Given the description of an element on the screen output the (x, y) to click on. 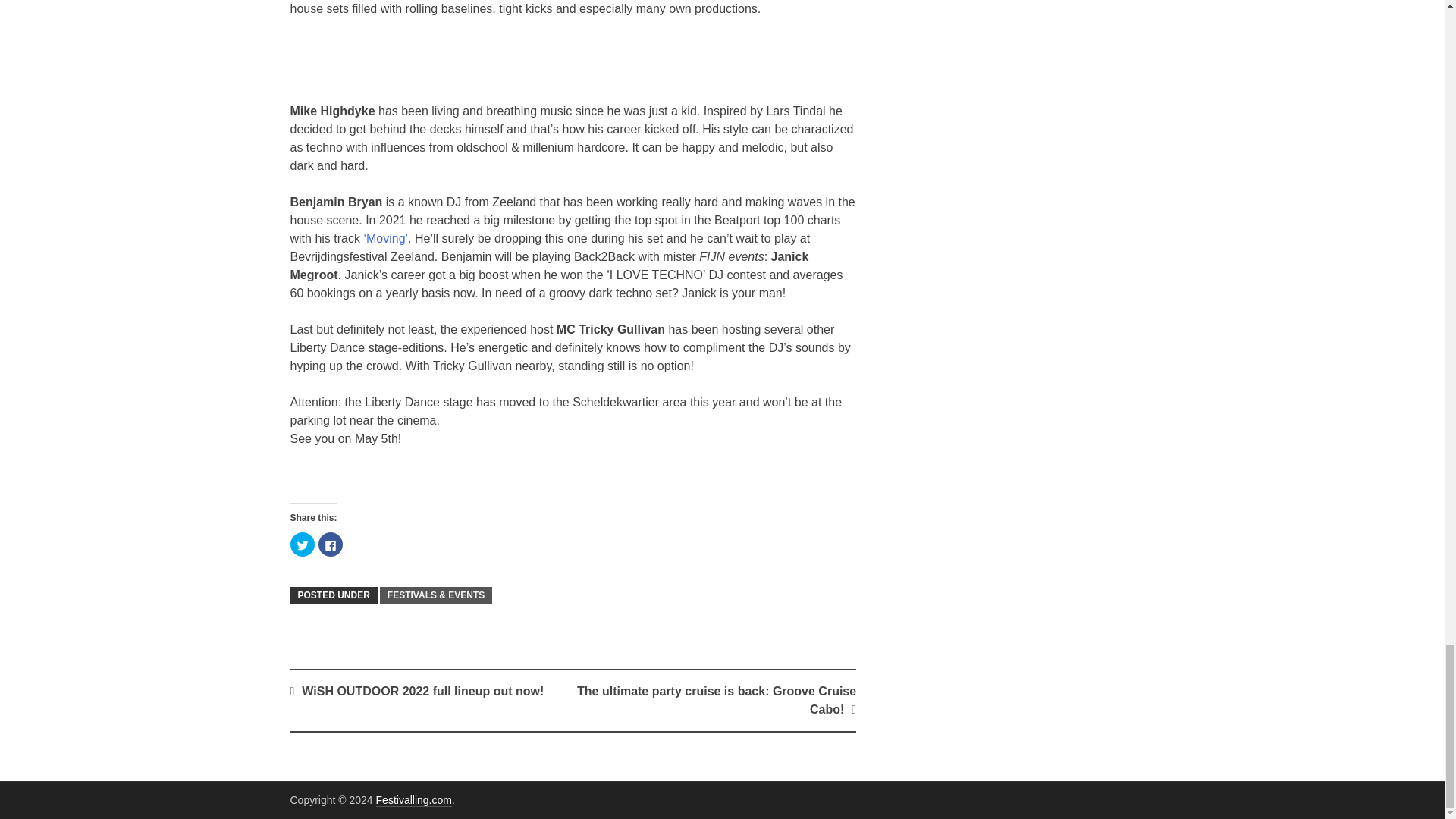
WiSH OUTDOOR 2022 full lineup out now! (422, 690)
Click to share on Facebook (330, 544)
Festivalling.com (413, 799)
Click to share on Twitter (301, 544)
The ultimate party cruise is back: Groove Cruise Cabo! (716, 699)
Spotify Embed: To The Top (572, 66)
